Given the description of an element on the screen output the (x, y) to click on. 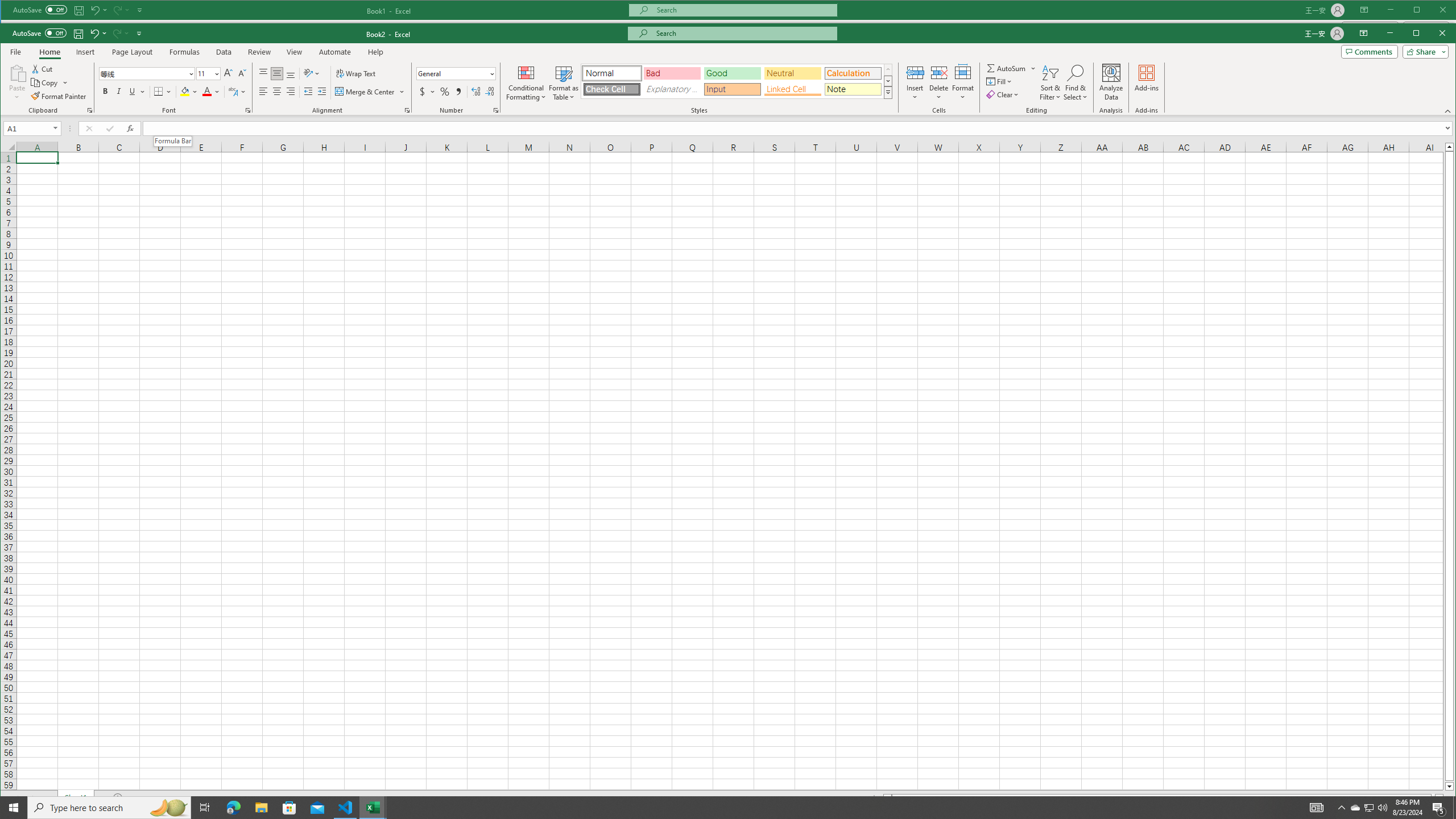
AutomationID: CellStylesGallery (736, 81)
Close (1444, 33)
Font (143, 73)
Orientation (311, 73)
Middle Align (276, 73)
Scroll Left (18, 797)
Font Color RGB(255, 0, 0) (206, 91)
Bottom Border (158, 91)
Format (962, 82)
Normal (1289, 812)
Explanatory Text (671, 89)
Zoom (1384, 812)
Note (852, 89)
